Given the description of an element on the screen output the (x, y) to click on. 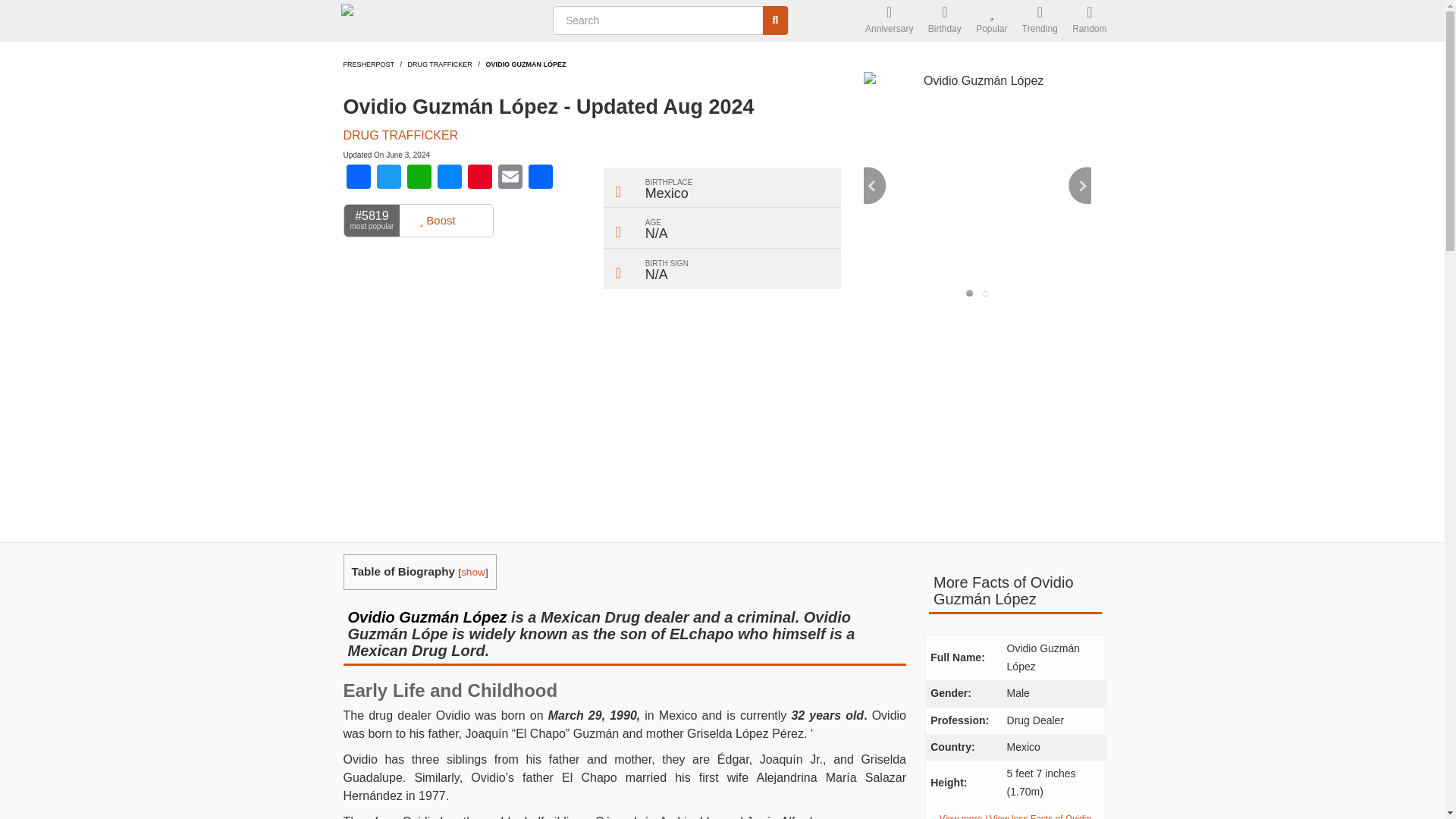
Trending (1040, 21)
Birthday (944, 21)
Pinterest (479, 178)
Twitter (387, 178)
Popular (991, 21)
Facebook (357, 178)
Share (539, 178)
Today Birthday (944, 21)
Pinterest (479, 178)
Facebook (357, 178)
Messenger (448, 178)
Drug Trafficker (439, 63)
Twitter (387, 178)
random (1088, 21)
DRUG TRAFFICKER (439, 63)
